Given the description of an element on the screen output the (x, y) to click on. 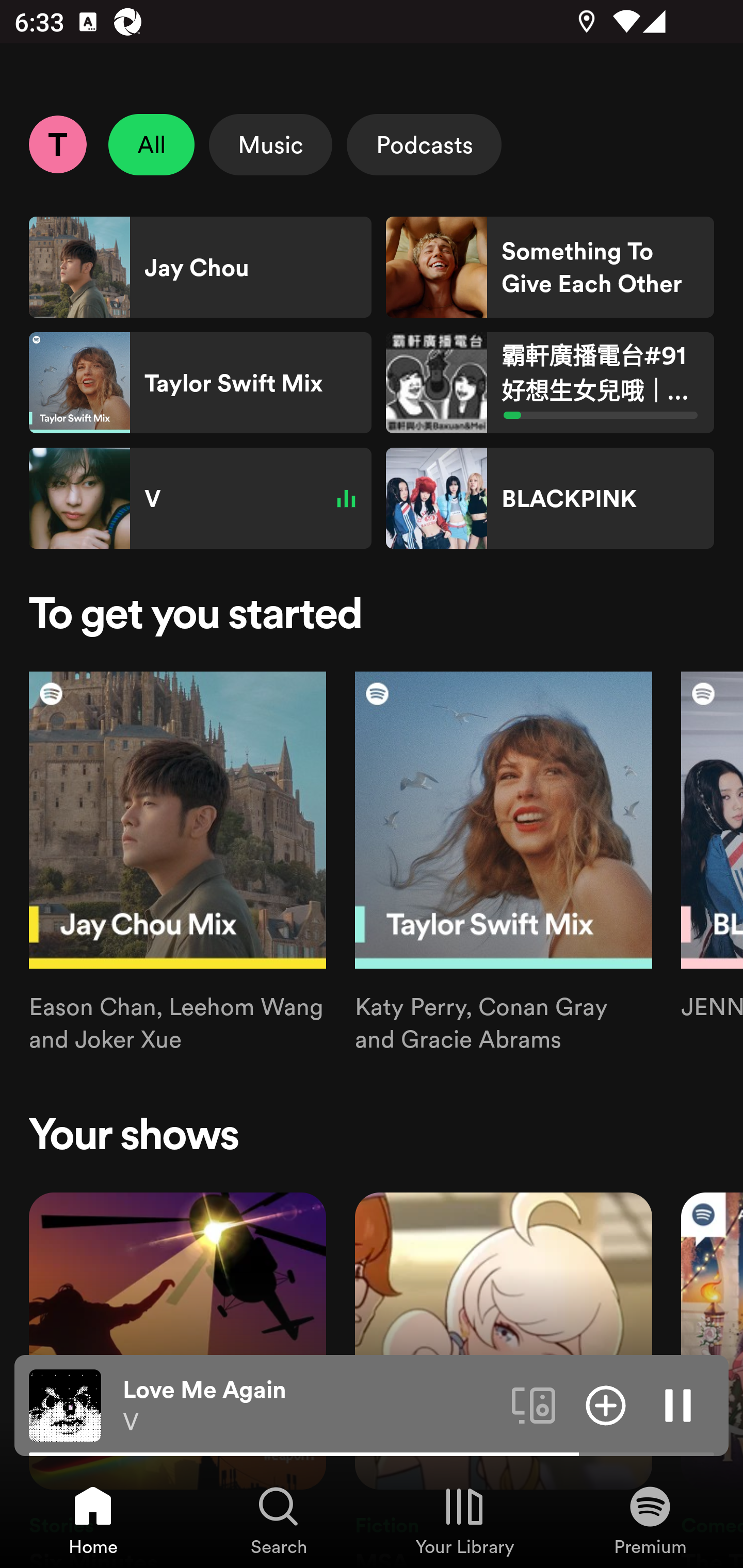
Profile (57, 144)
All Unselect All (151, 144)
Music Select Music (270, 144)
Podcasts Select Podcasts (423, 144)
Jay Chou Shortcut Jay Chou (199, 267)
Taylor Swift Mix Shortcut Taylor Swift Mix (199, 382)
V Shortcut V Playing (199, 498)
BLACKPINK Shortcut BLACKPINK (549, 498)
Love Me Again V (309, 1405)
The cover art of the currently playing track (64, 1404)
Connect to a device. Opens the devices menu (533, 1404)
Add item (605, 1404)
Pause (677, 1404)
Home, Tab 1 of 4 Home Home (92, 1519)
Search, Tab 2 of 4 Search Search (278, 1519)
Your Library, Tab 3 of 4 Your Library Your Library (464, 1519)
Premium, Tab 4 of 4 Premium Premium (650, 1519)
